Given the description of an element on the screen output the (x, y) to click on. 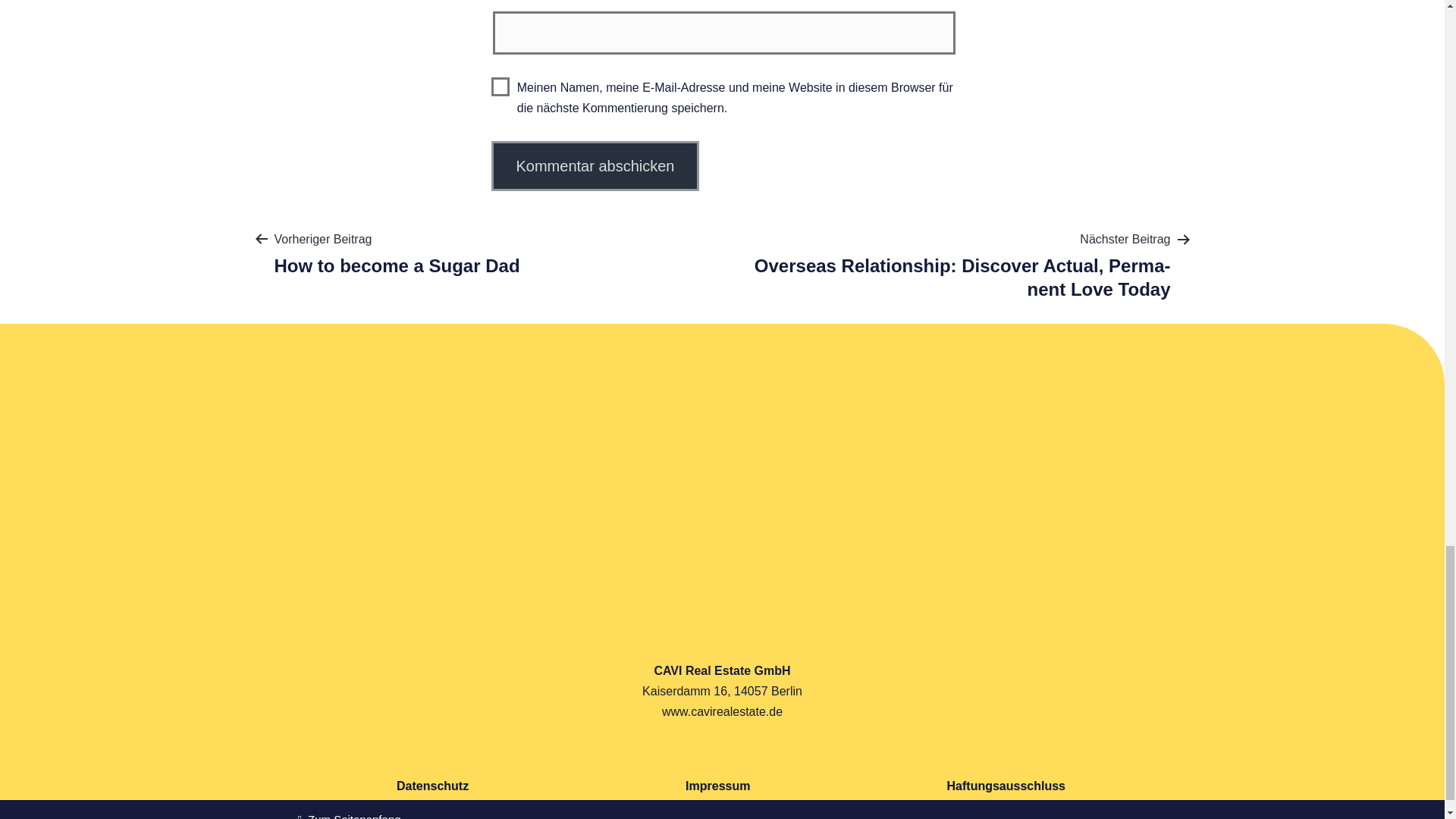
Kommentar abschicken (596, 165)
Haftungsausschluss (1006, 786)
yes (500, 86)
Datenschutz (432, 786)
www.cavirealestate.de (722, 711)
Kommentar abschicken (596, 165)
Impressum (717, 786)
